Given the description of an element on the screen output the (x, y) to click on. 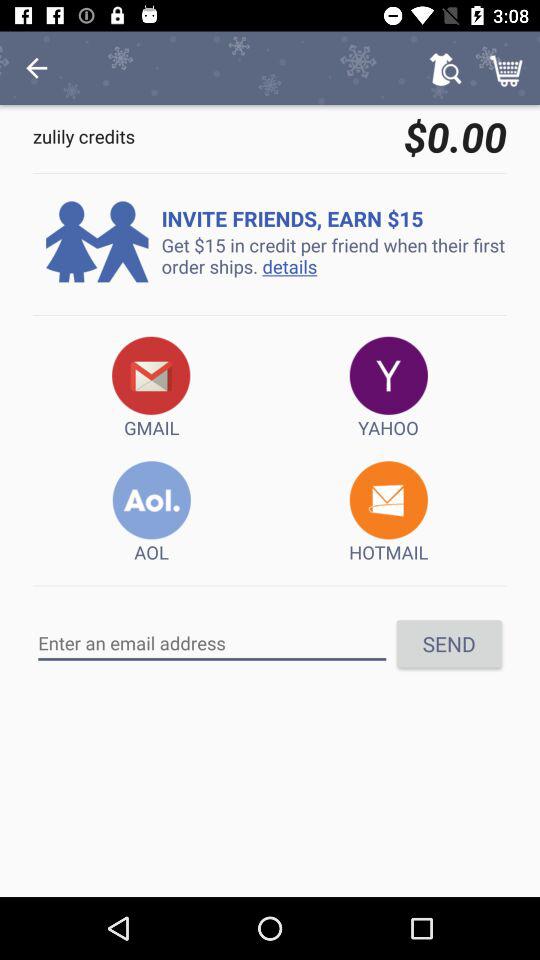
scroll to gmail icon (151, 388)
